Given the description of an element on the screen output the (x, y) to click on. 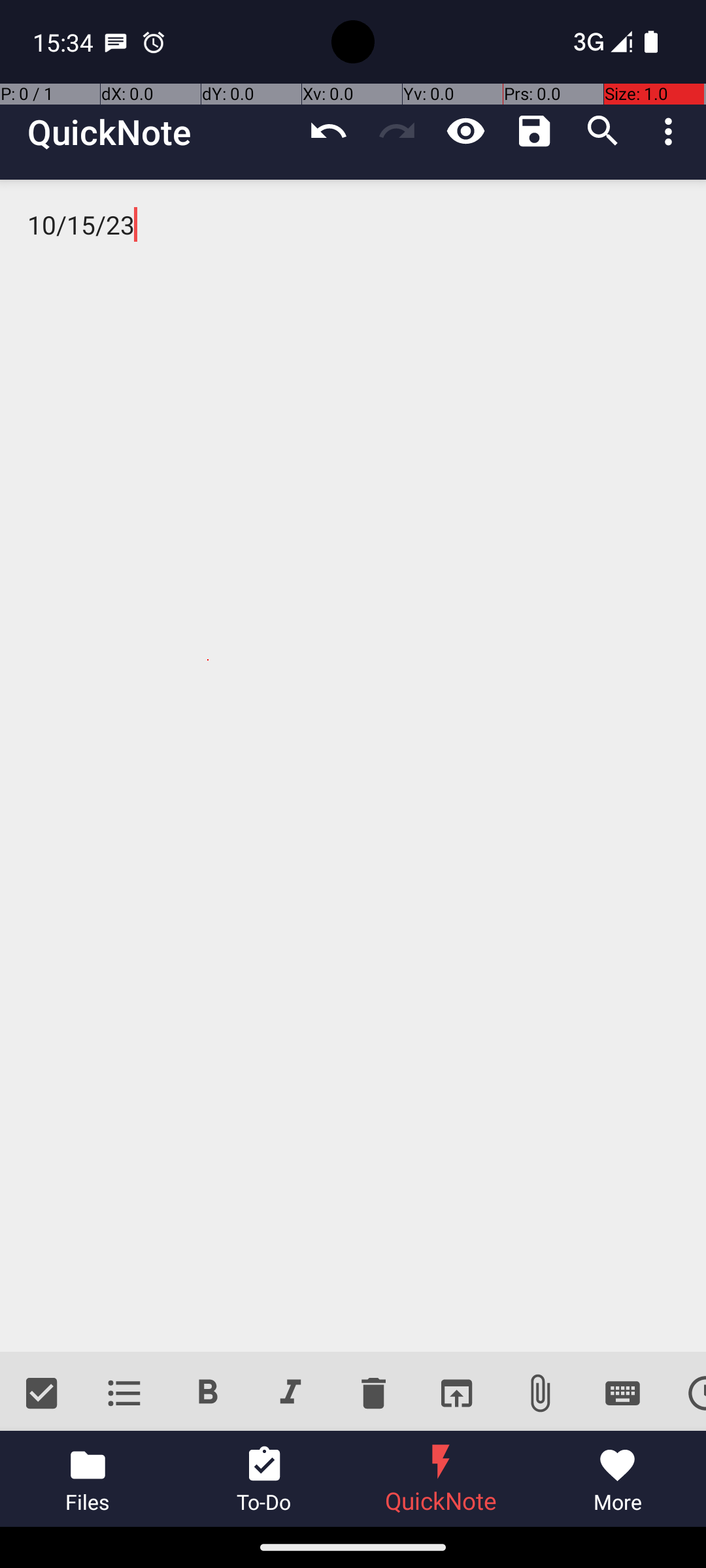
10/15/23 Element type: android.widget.EditText (353, 765)
